Given the description of an element on the screen output the (x, y) to click on. 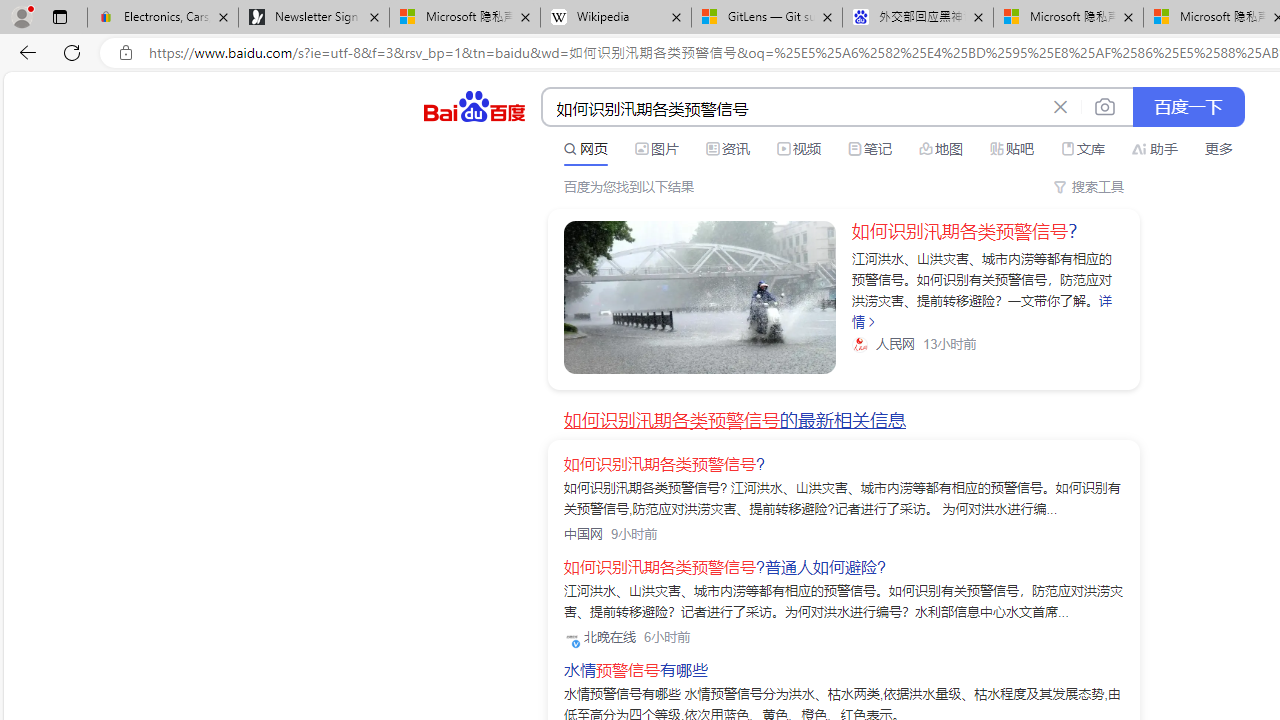
Newsletter Sign Up (314, 17)
